Given the description of an element on the screen output the (x, y) to click on. 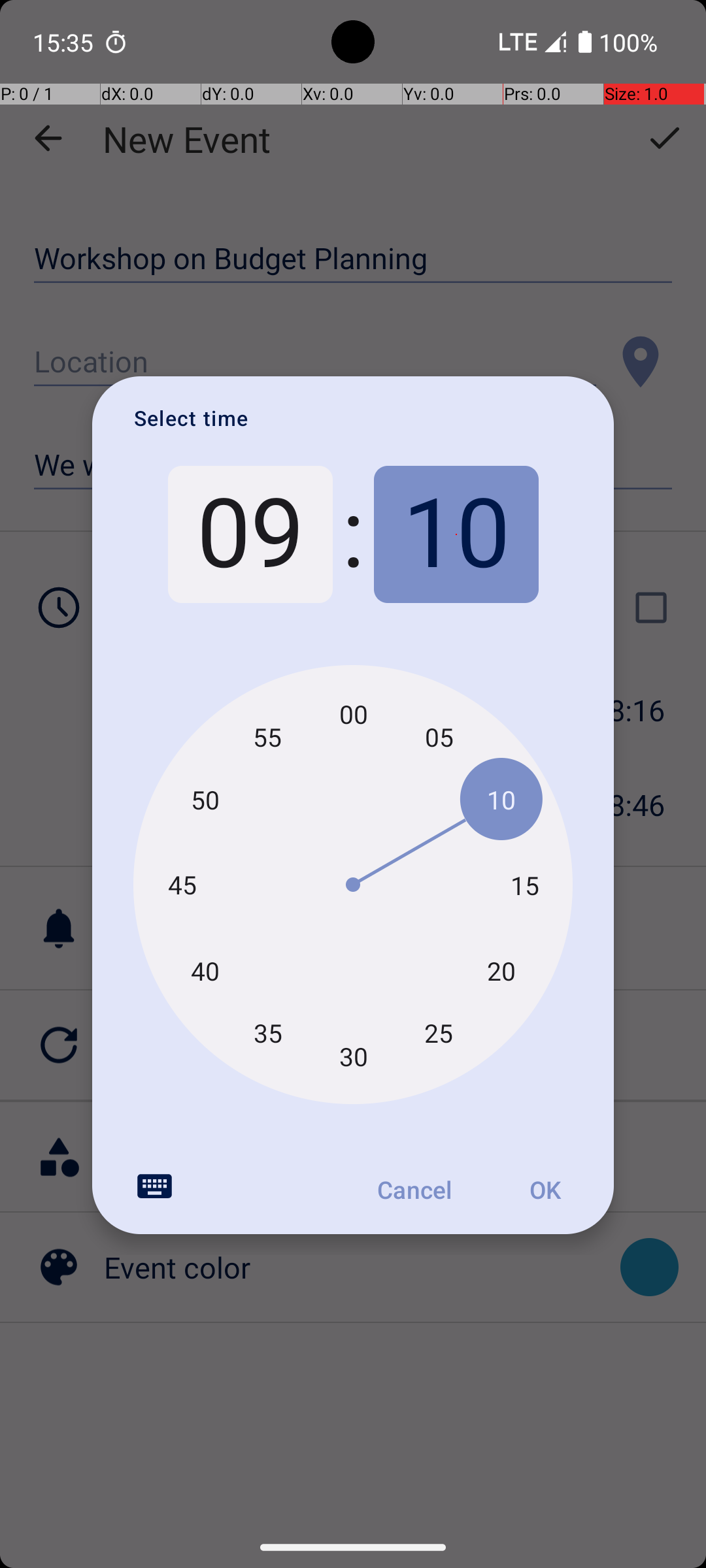
09 Element type: android.view.View (250, 534)
